Given the description of an element on the screen output the (x, y) to click on. 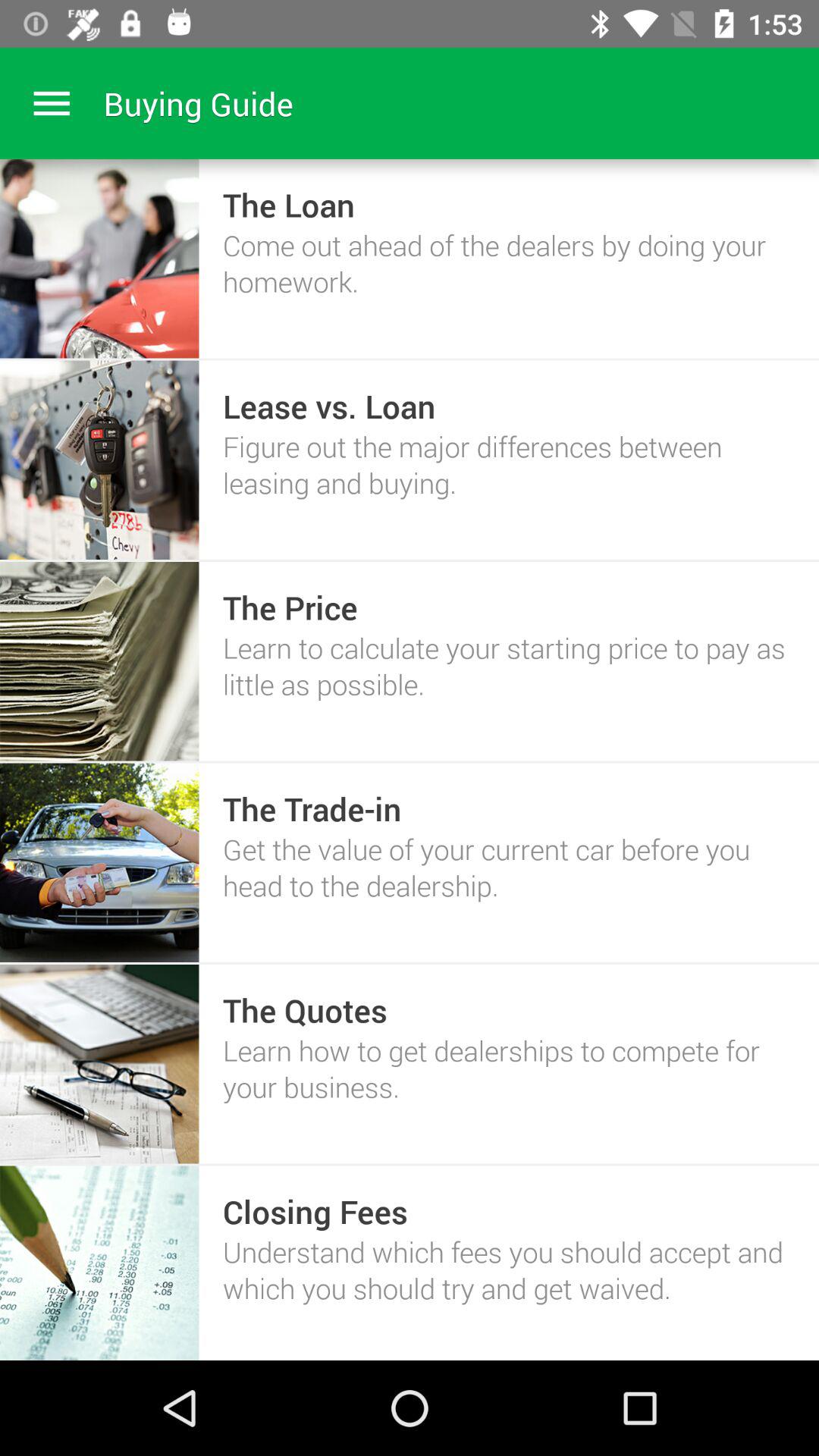
launch the understand which fees item (508, 1269)
